Given the description of an element on the screen output the (x, y) to click on. 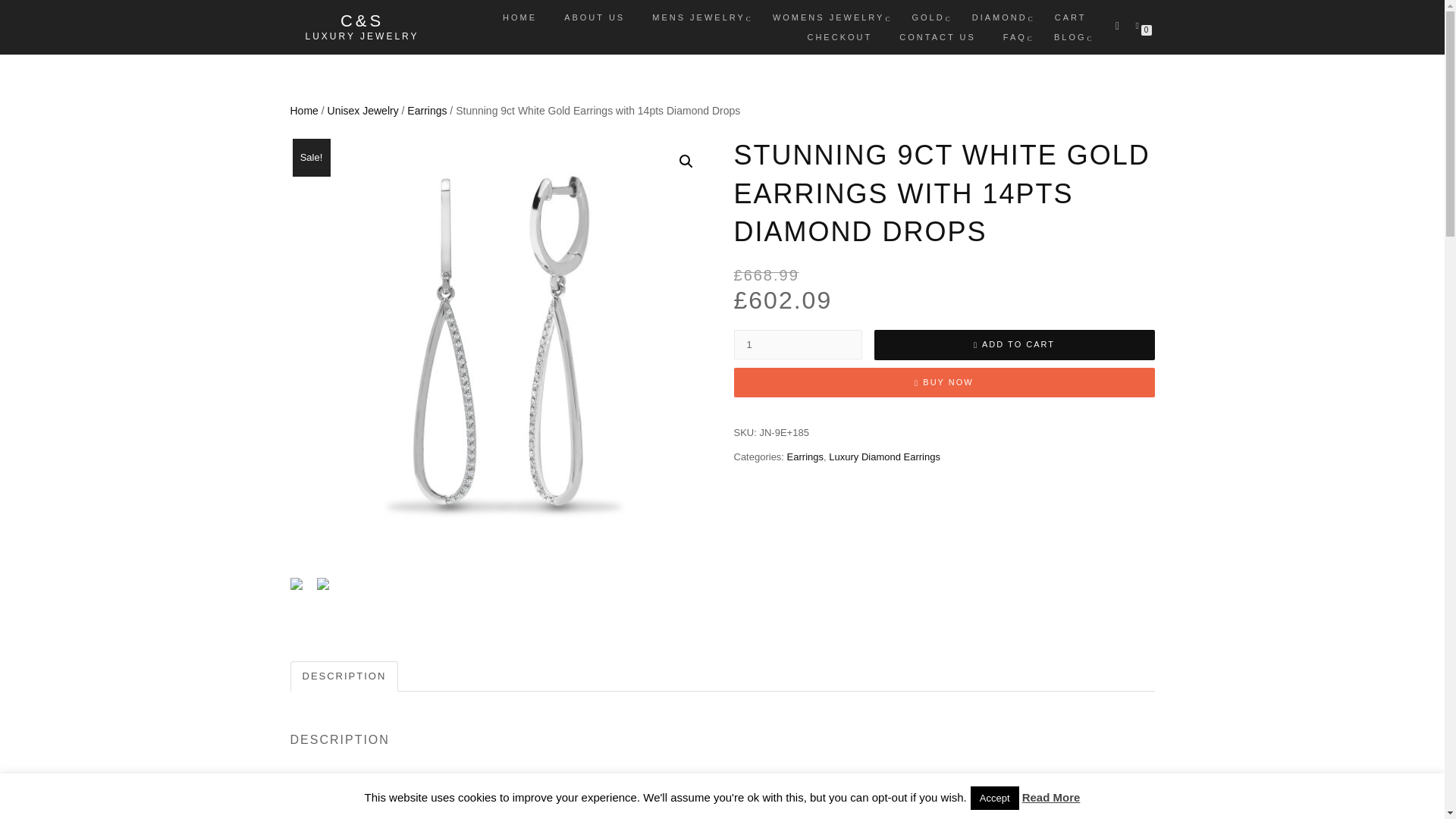
1 (798, 344)
FAQ (1014, 36)
DIAMOND (999, 17)
LUXURY JEWELRY (361, 36)
WOMENS JEWELRY (828, 17)
HOME (520, 17)
CONTACT US (937, 36)
MENS JEWELRY (698, 17)
View your shopping cart (1139, 23)
ABOUT US (594, 17)
